Given the description of an element on the screen output the (x, y) to click on. 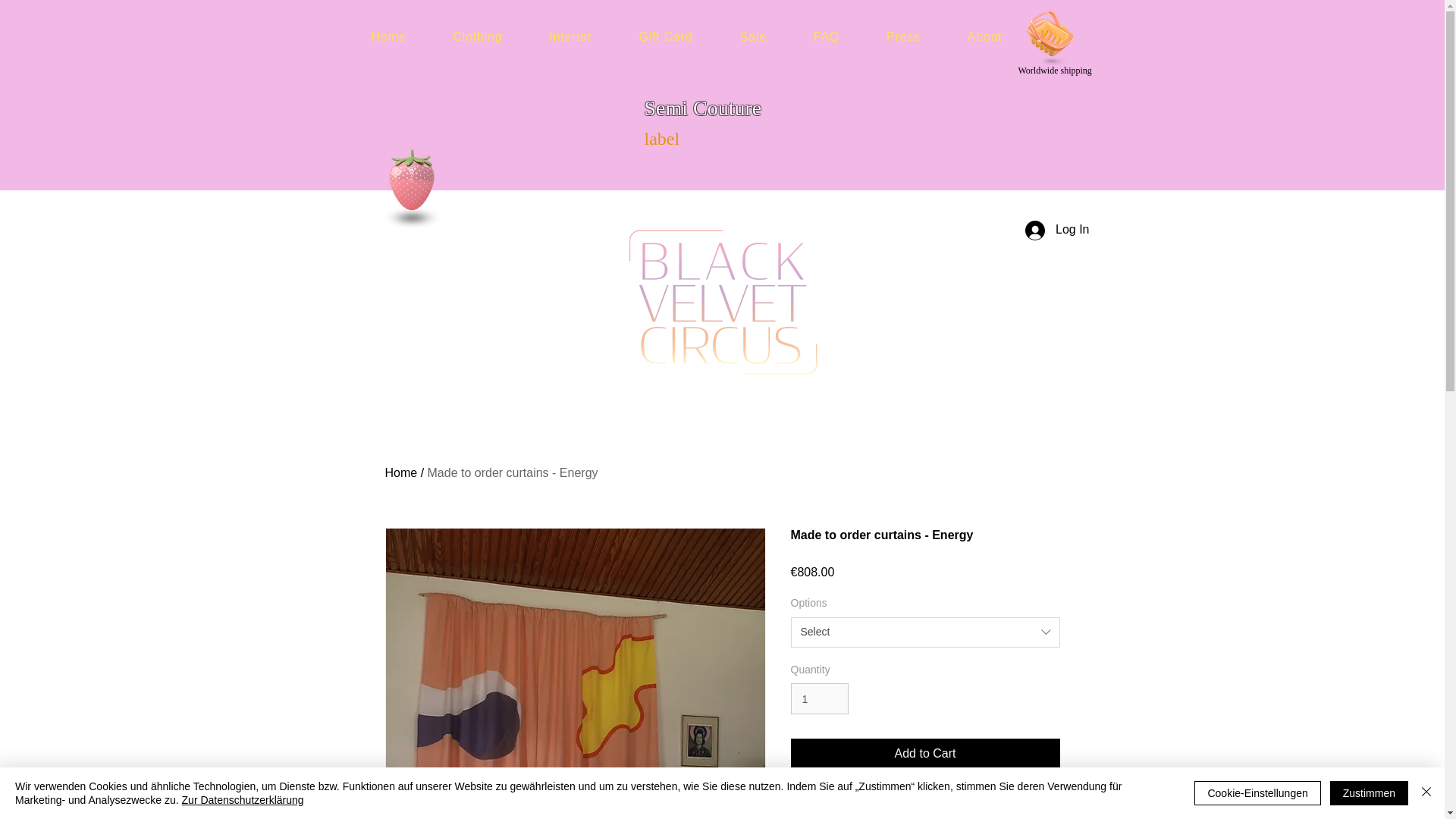
1 (818, 698)
Hand with a note (410, 188)
0 (1049, 32)
Sale (753, 37)
Gift Card (665, 37)
About (985, 37)
Select (924, 632)
Home (401, 472)
How to order? (924, 812)
FAQ (826, 37)
Press (903, 37)
Add to Cart (924, 753)
Clothing (477, 37)
Interior (569, 37)
Home (388, 37)
